Given the description of an element on the screen output the (x, y) to click on. 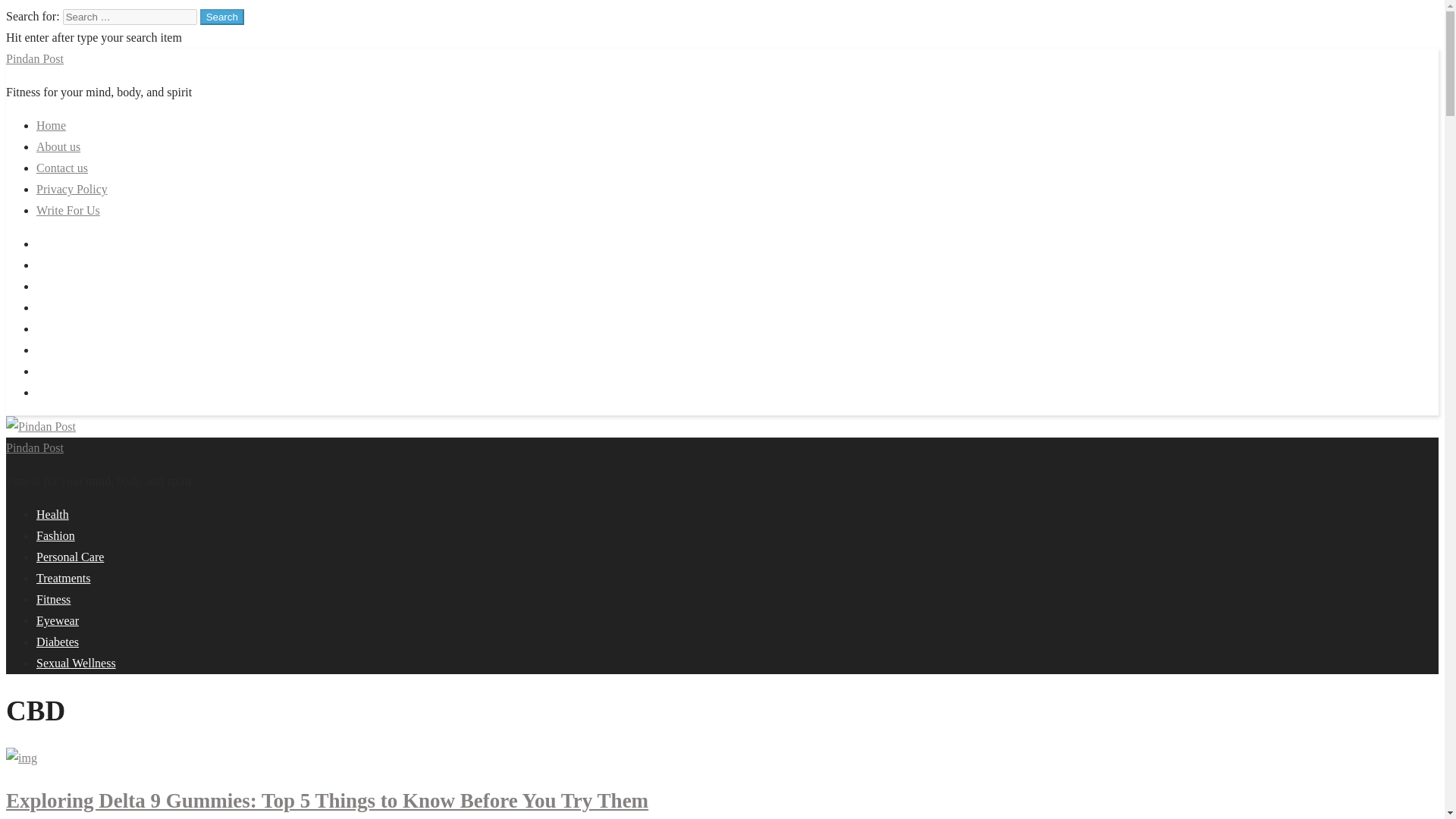
Search (222, 17)
Personal Care (69, 556)
Search (222, 17)
Contact us (61, 167)
Fitness (52, 599)
Search (222, 17)
Pindan Post (34, 447)
Privacy Policy (71, 188)
About us (58, 146)
Treatments (63, 577)
Fashion (55, 535)
Pindan Post (34, 58)
Pindan Post (34, 58)
